Given the description of an element on the screen output the (x, y) to click on. 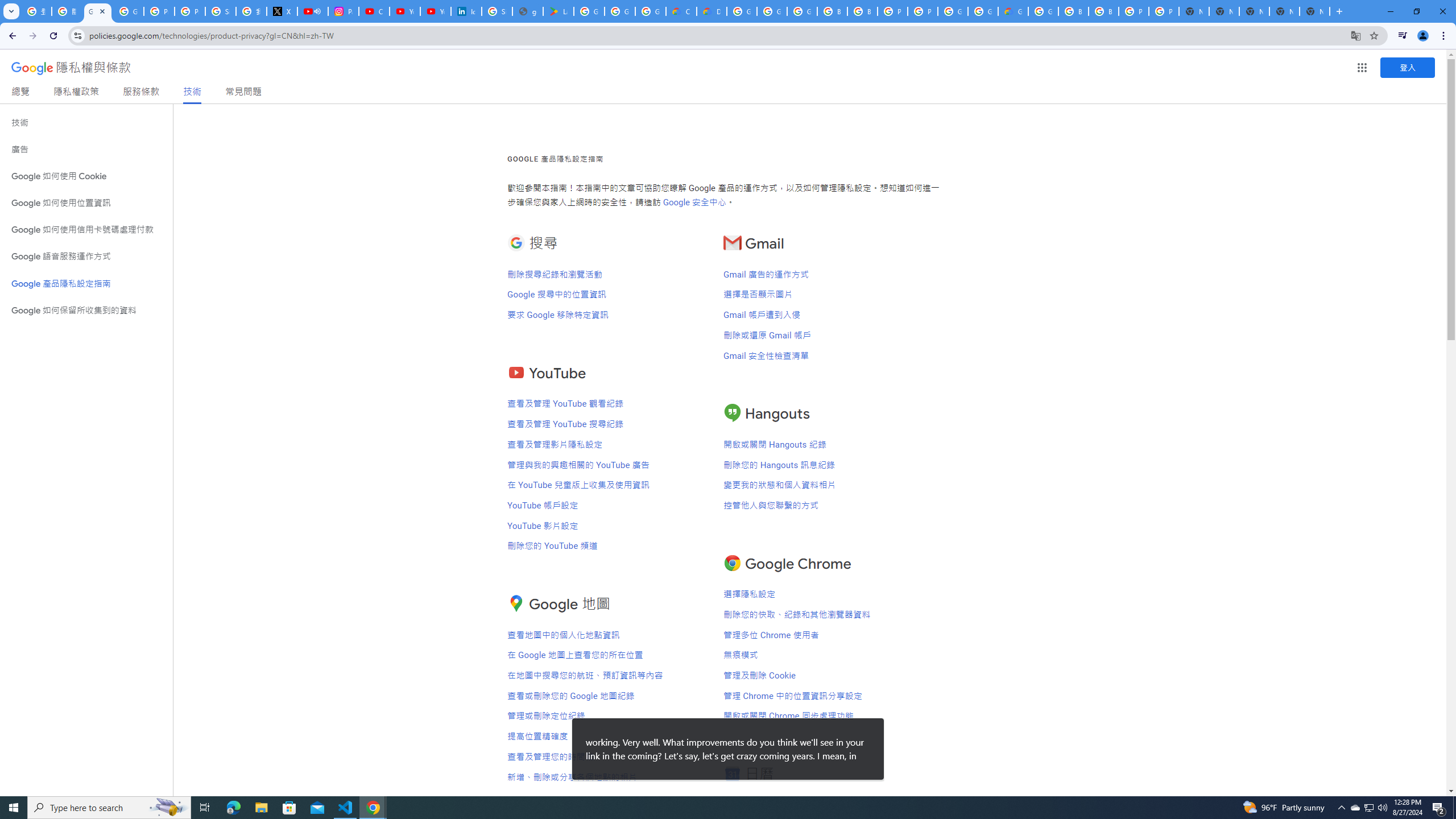
Browse Chrome as a guest - Computer - Google Chrome Help (862, 11)
Mute tab (317, 10)
Translate this page (1355, 35)
Google Cloud Platform (1042, 11)
Google Cloud Platform (741, 11)
